Given the description of an element on the screen output the (x, y) to click on. 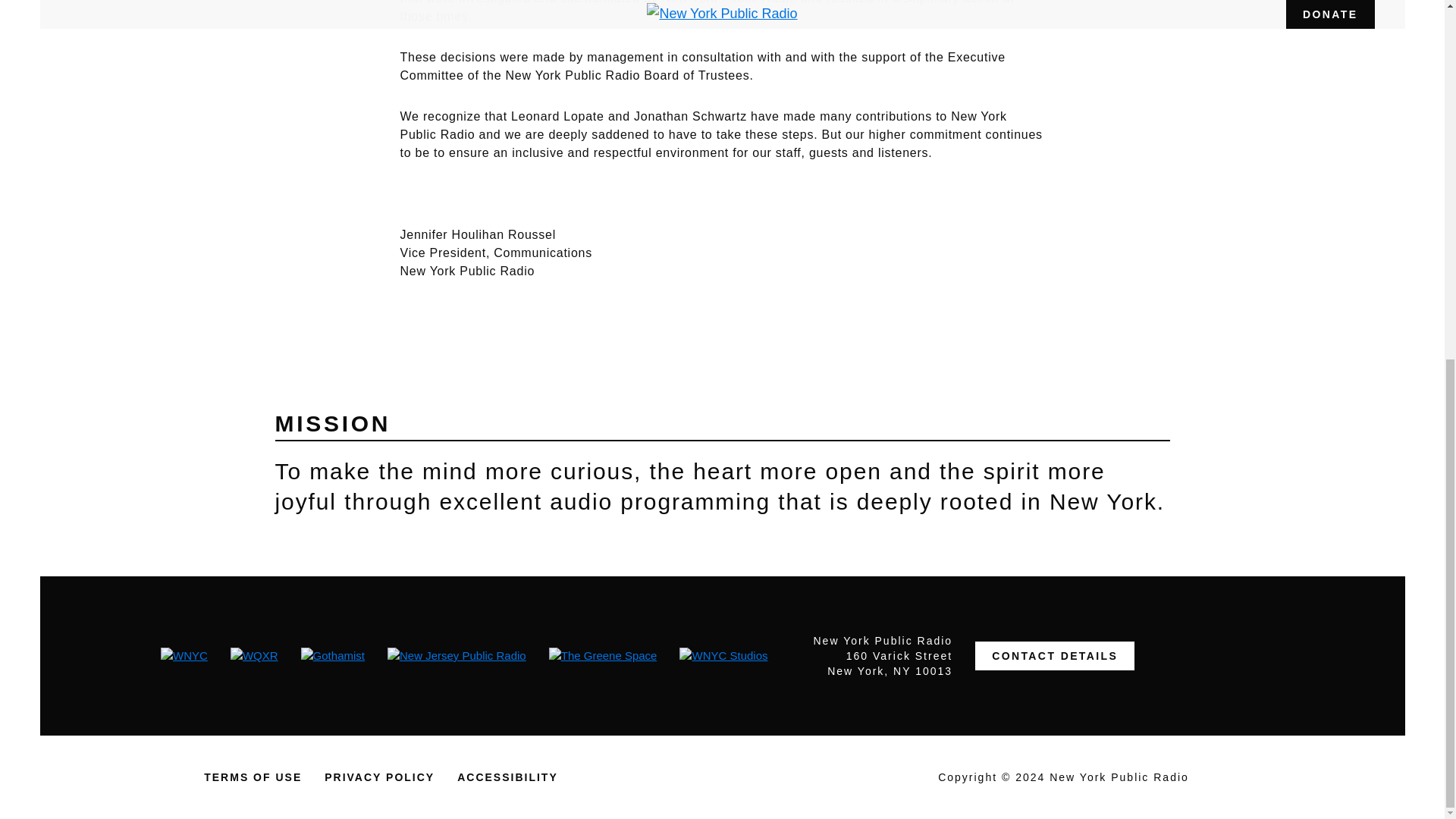
Gothamist (333, 656)
PRIVACY POLICY (378, 776)
CONTACT DETAILS (1054, 655)
WQXR (254, 656)
The Greene Space (603, 656)
ACCESSIBILITY (507, 776)
WNYC (184, 656)
TERMS OF USE (252, 776)
New Jersey Public Radio (456, 656)
WNYC Studios (723, 656)
